Given the description of an element on the screen output the (x, y) to click on. 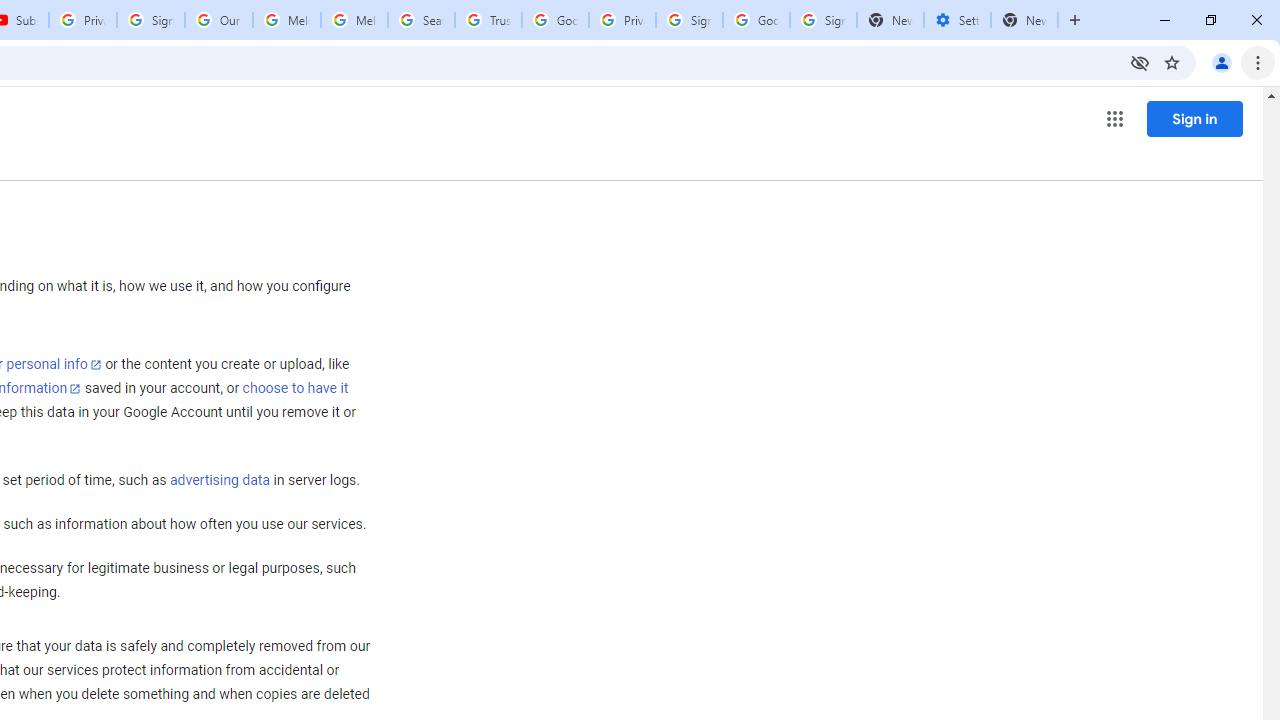
Google Cybersecurity Innovations - Google Safety Center (756, 20)
Search our Doodle Library Collection - Google Doodles (420, 20)
Sign in - Google Accounts (689, 20)
advertising data (219, 481)
Google Ads - Sign in (555, 20)
